Given the description of an element on the screen output the (x, y) to click on. 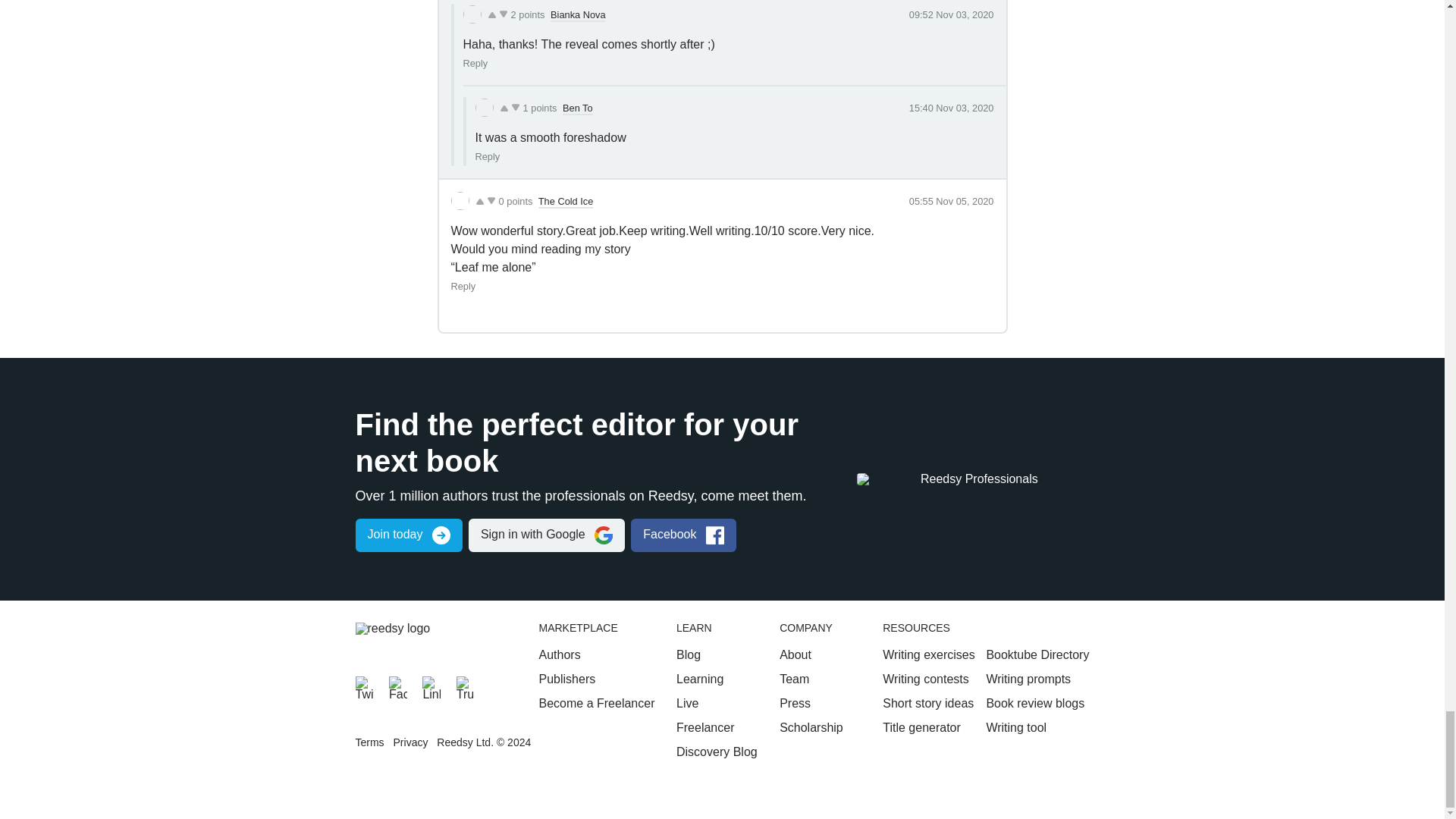
Trustpilot (465, 685)
Sign up (408, 535)
Sign in with Google (546, 535)
Twitter (363, 685)
Sign in with Facebook (683, 535)
Facebook (397, 685)
LinkedIn (431, 685)
